Given the description of an element on the screen output the (x, y) to click on. 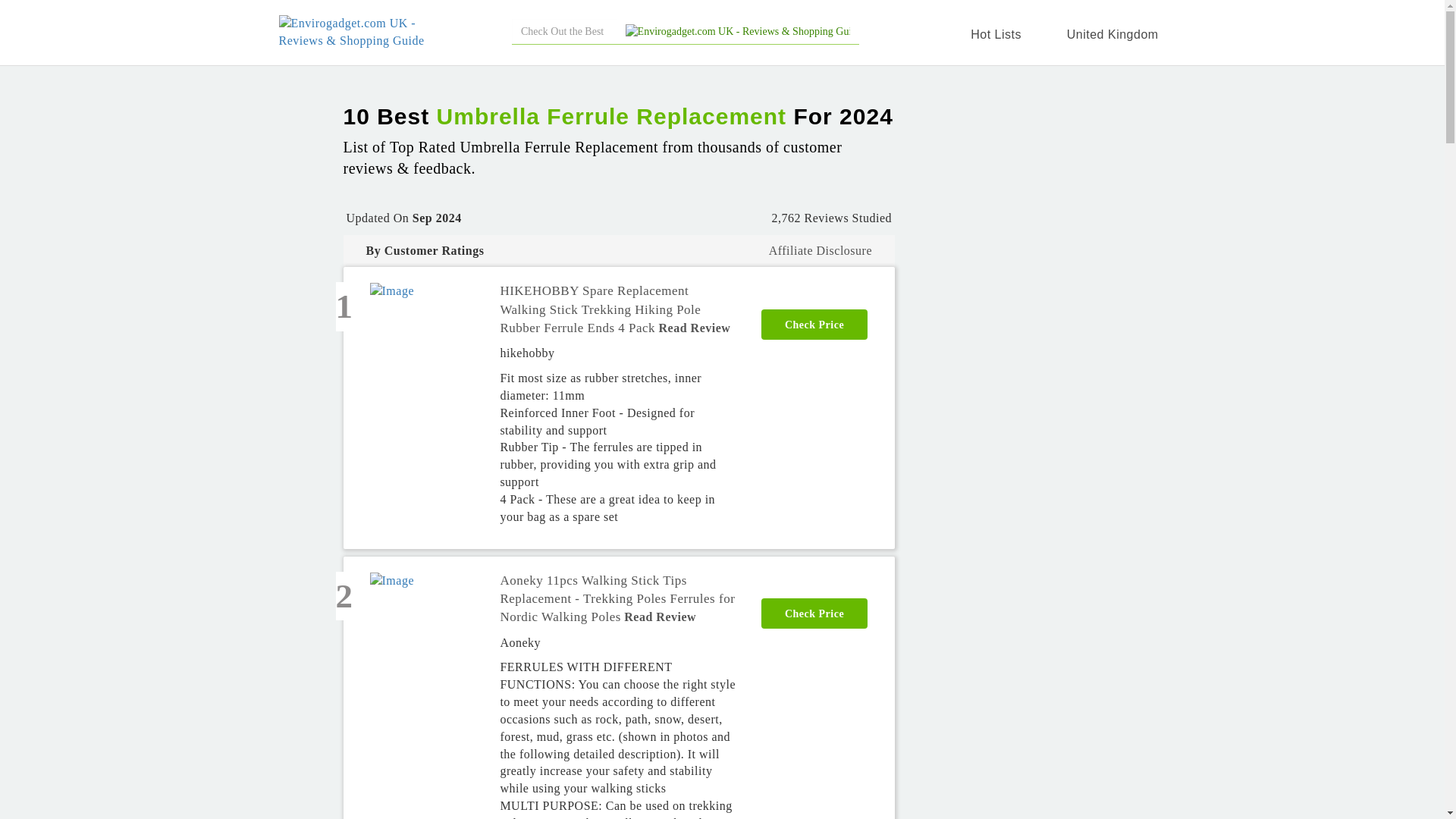
Check Price (814, 612)
Hot Lists   (1000, 33)
Check Price (814, 323)
Affiliate Disclosure (820, 250)
United Kingdom   (1108, 33)
